Given the description of an element on the screen output the (x, y) to click on. 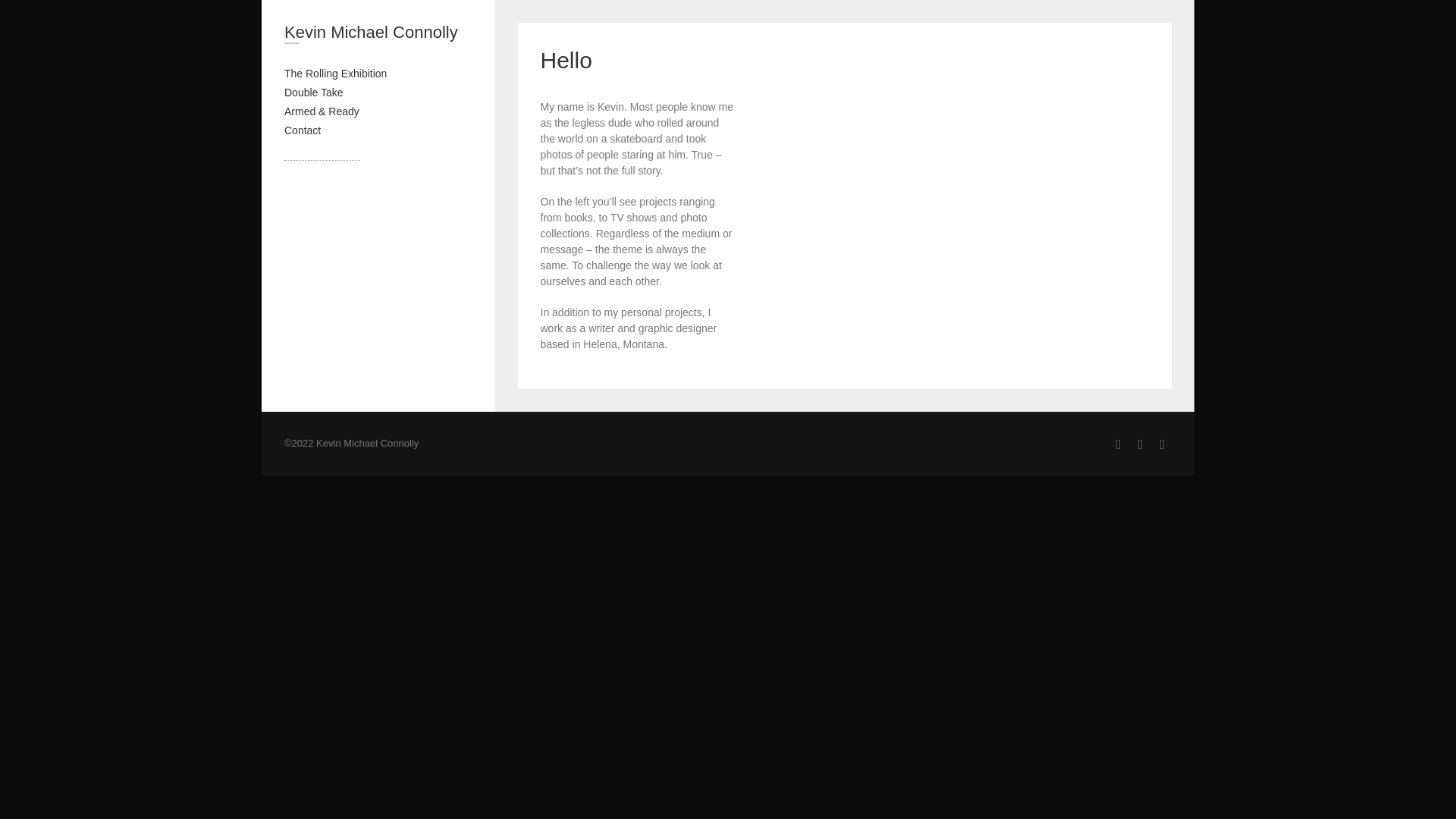
Kevin Michael Connolly (377, 34)
Double Take (313, 92)
Twitter (1162, 443)
Kevin Michael Connolly (377, 34)
The Rolling Exhibition (335, 73)
Instagram (1117, 443)
Facebook (1140, 443)
Contact (301, 130)
Welcome (952, 225)
